Given the description of an element on the screen output the (x, y) to click on. 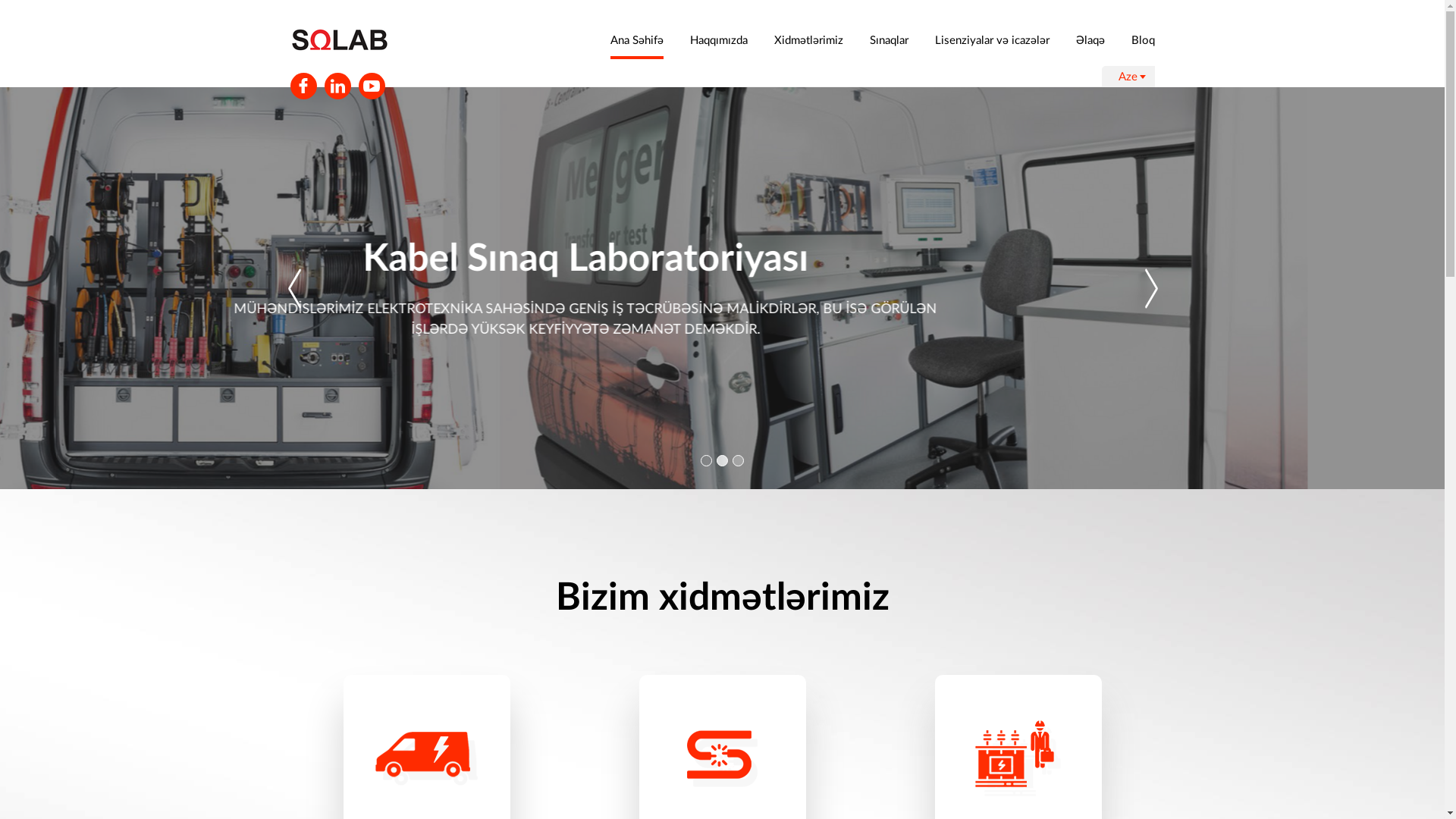
Bloq Element type: text (1142, 39)
